Given the description of an element on the screen output the (x, y) to click on. 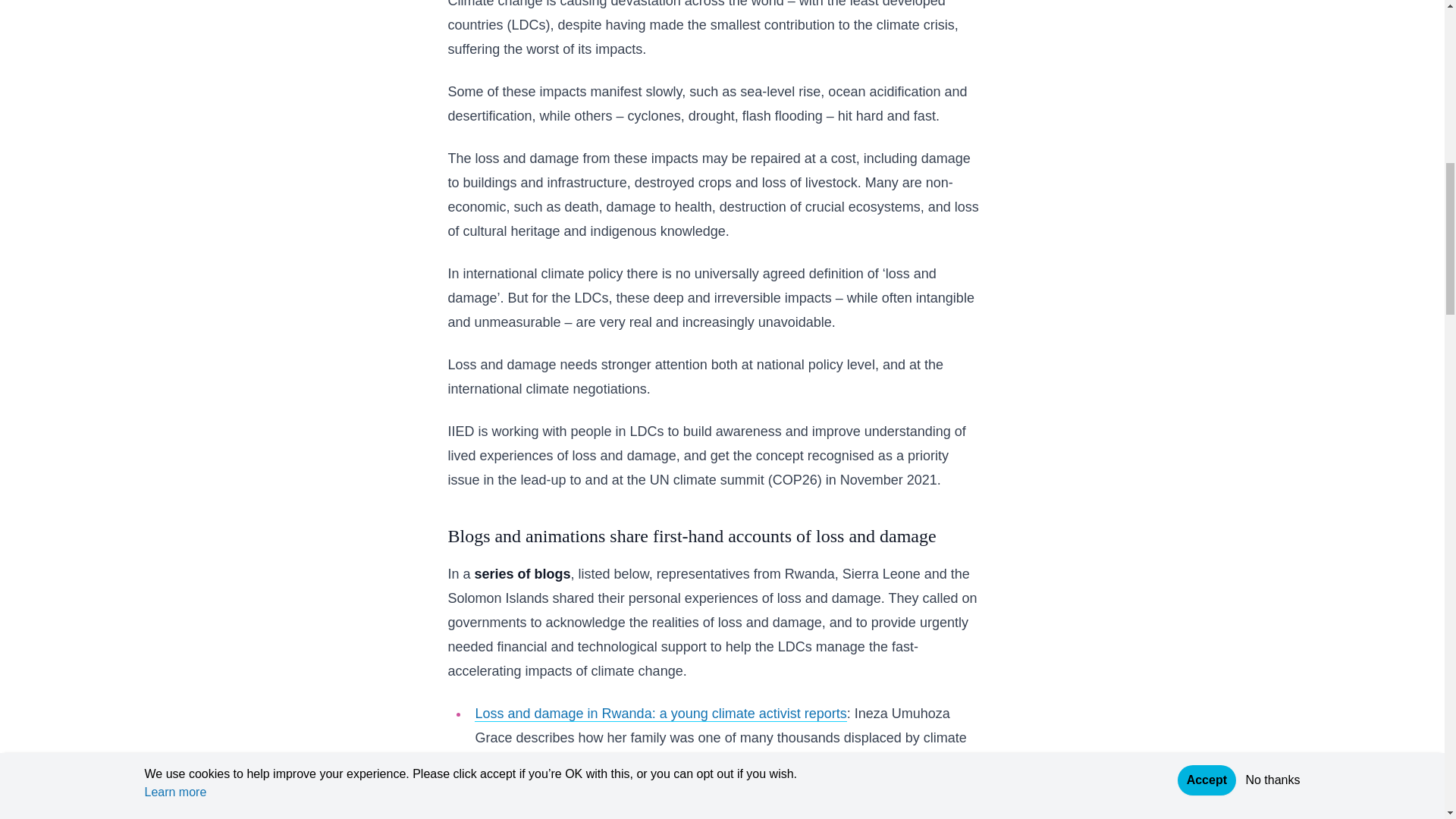
Loss and damage in Rwanda: a young climate activist reports (659, 713)
